Given the description of an element on the screen output the (x, y) to click on. 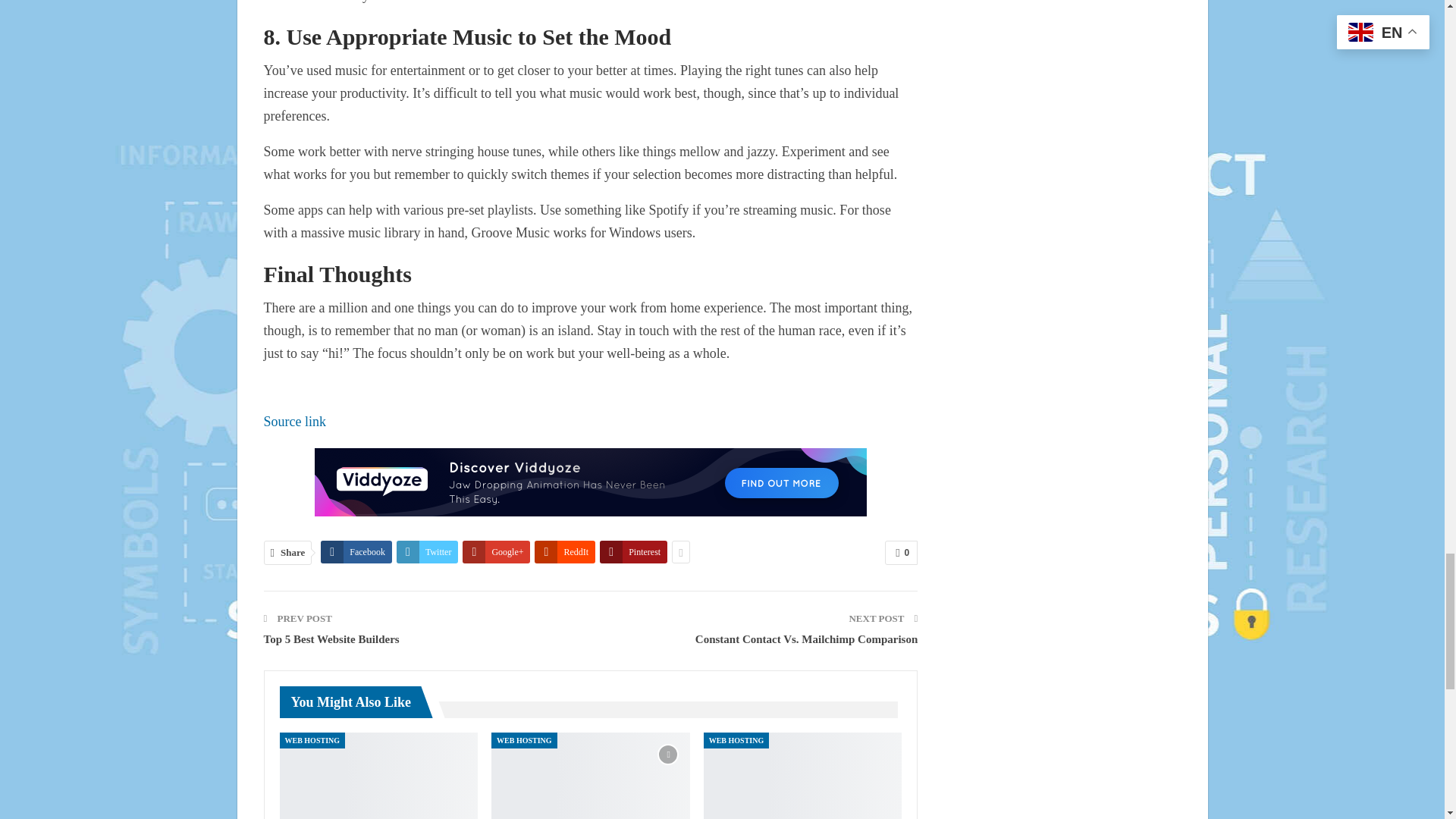
ReddIt (564, 551)
Twitter (427, 551)
Pinterest (632, 551)
Source link (294, 421)
Facebook (355, 551)
0 (901, 552)
Methods to Create and Handle MySQL Customers (378, 775)
